Given the description of an element on the screen output the (x, y) to click on. 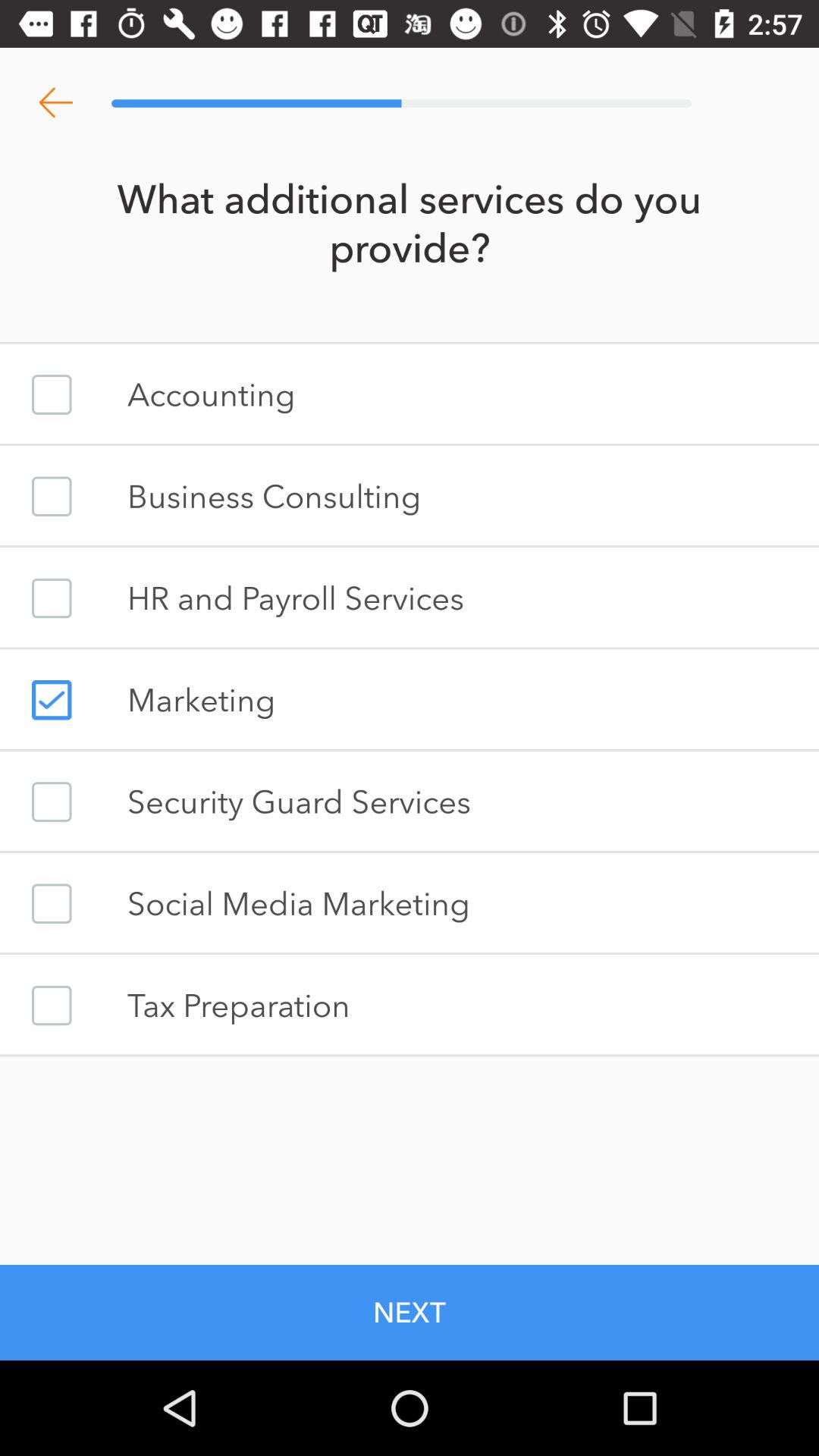
jump to the next item (409, 1312)
